Given the description of an element on the screen output the (x, y) to click on. 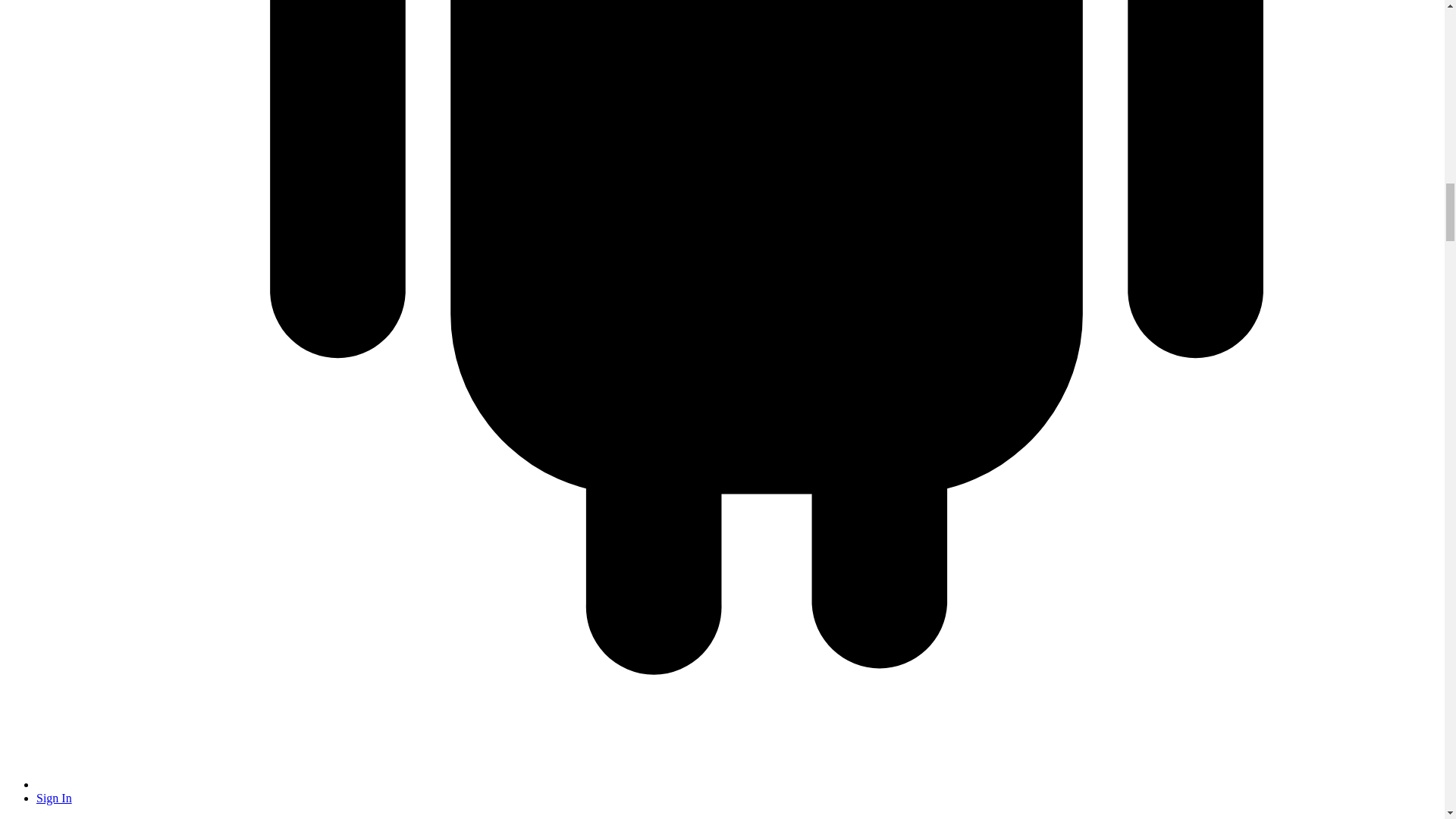
Sign In (53, 797)
